Given the description of an element on the screen output the (x, y) to click on. 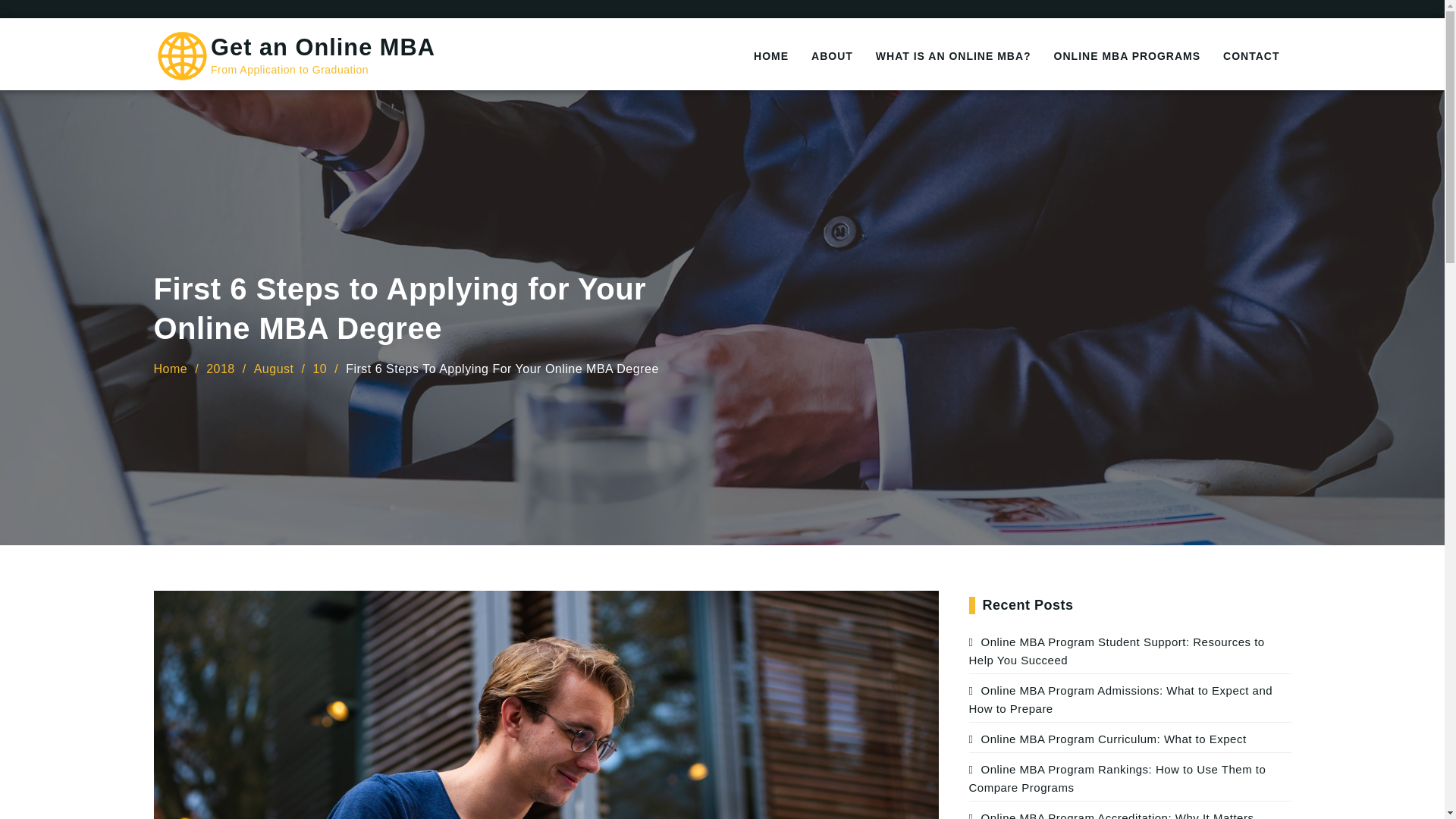
Online MBA Program Accreditation: Why It Matters (1111, 815)
10 (319, 368)
August (273, 368)
WHAT IS AN ONLINE MBA? (953, 56)
2018 (220, 368)
ABOUT (831, 56)
Online MBA Program Curriculum: What to Expect (1107, 738)
CONTACT (1250, 56)
